Given the description of an element on the screen output the (x, y) to click on. 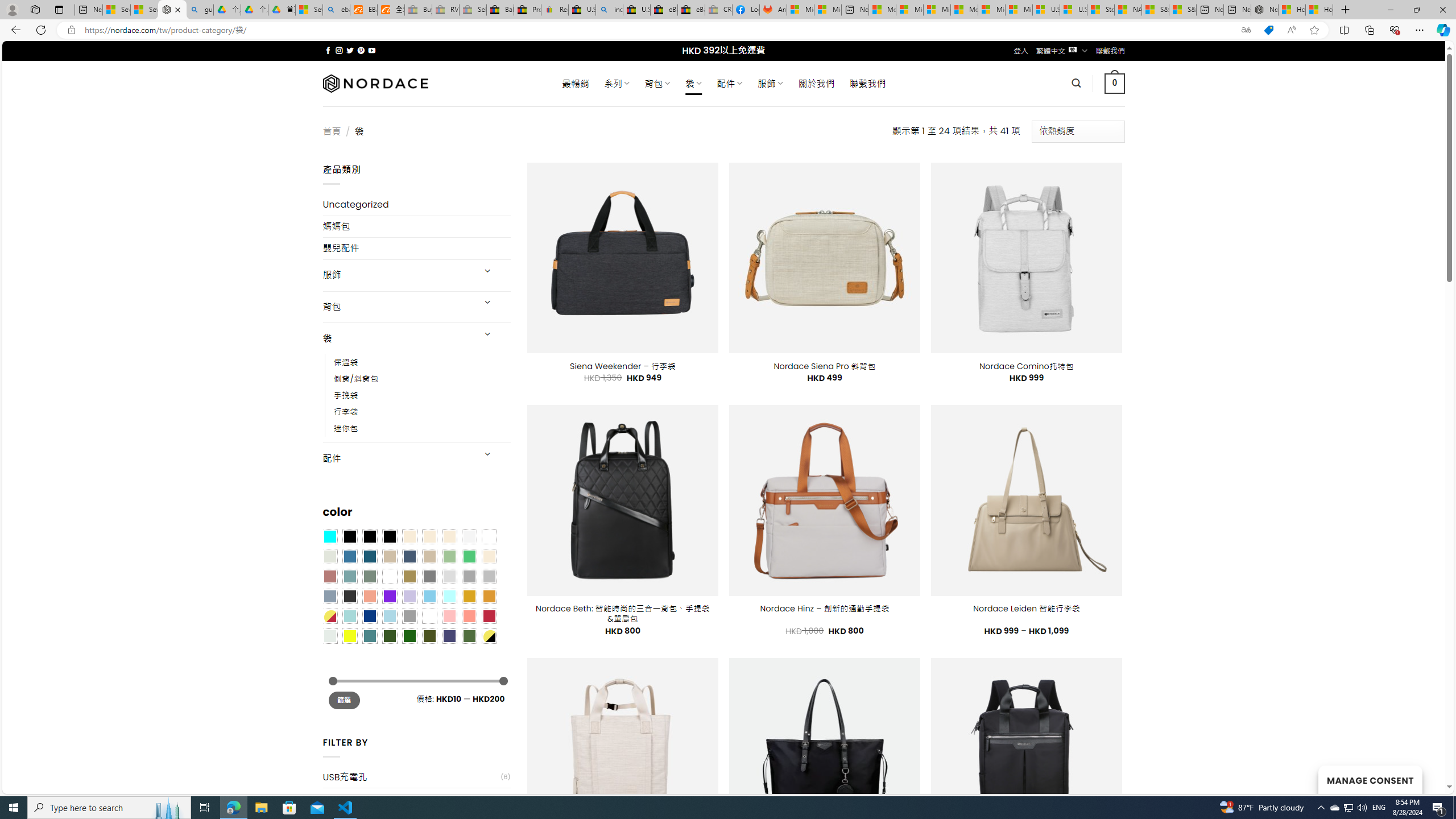
Cream (449, 536)
